Given the description of an element on the screen output the (x, y) to click on. 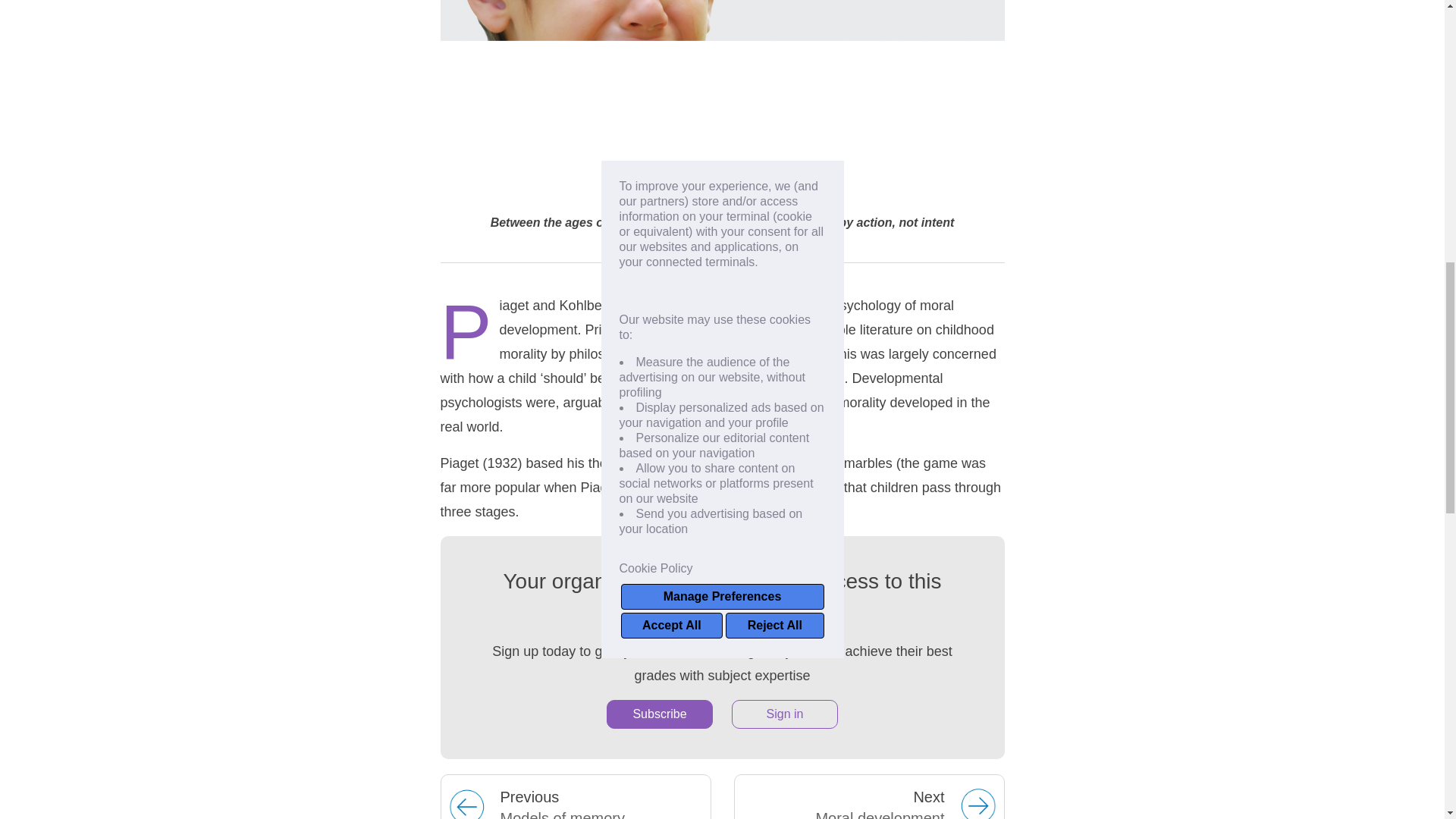
Subscribe (868, 796)
Sign in (660, 714)
